Given the description of an element on the screen output the (x, y) to click on. 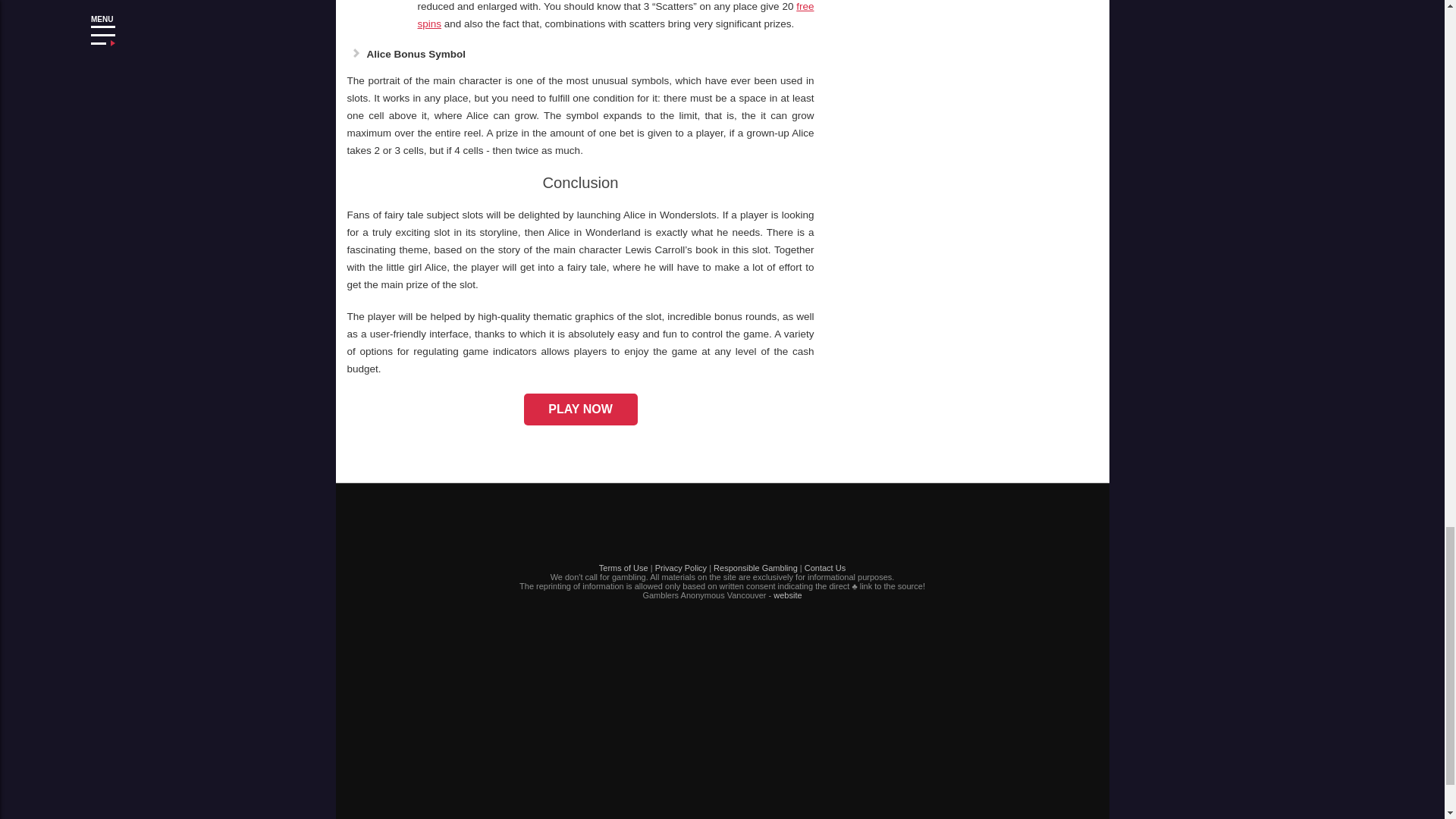
Privacy Policy (680, 567)
GPWA Approved Portal (721, 725)
Contact Us (825, 567)
Terms of Use (622, 567)
Responsible Gambling (755, 567)
